Given the description of an element on the screen output the (x, y) to click on. 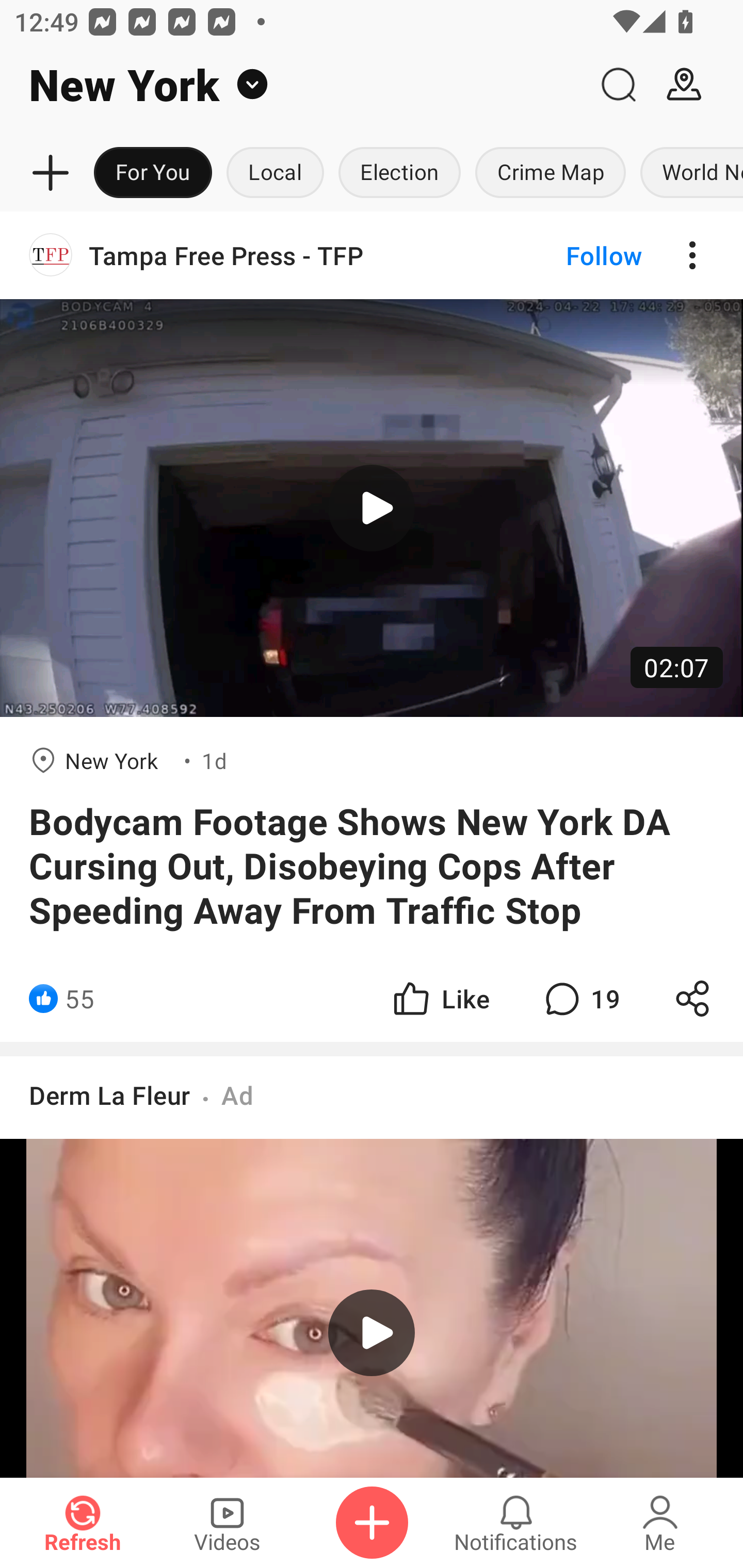
New York (292, 84)
For You (152, 172)
Local (275, 172)
Election (399, 172)
Crime Map (550, 172)
World News (688, 172)
Tampa Free Press - TFP Follow (371, 255)
Follow (569, 255)
55 (79, 997)
Like (439, 997)
19 (579, 997)
Derm La Fleur (109, 1094)
Videos (227, 1522)
Notifications (516, 1522)
Me (659, 1522)
